Given the description of an element on the screen output the (x, y) to click on. 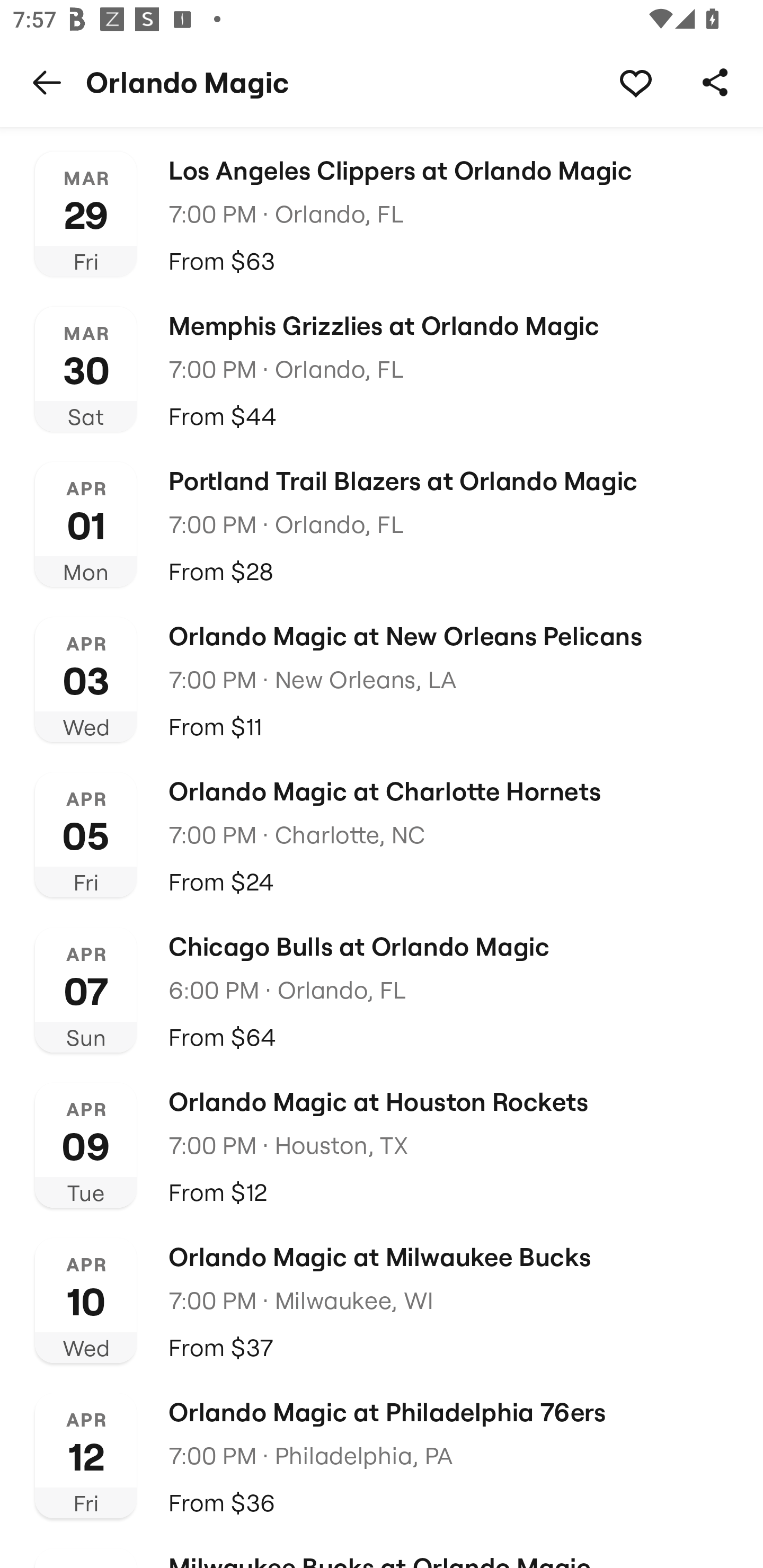
Back (47, 81)
Track this performer (635, 81)
Share this performer (715, 81)
